Given the description of an element on the screen output the (x, y) to click on. 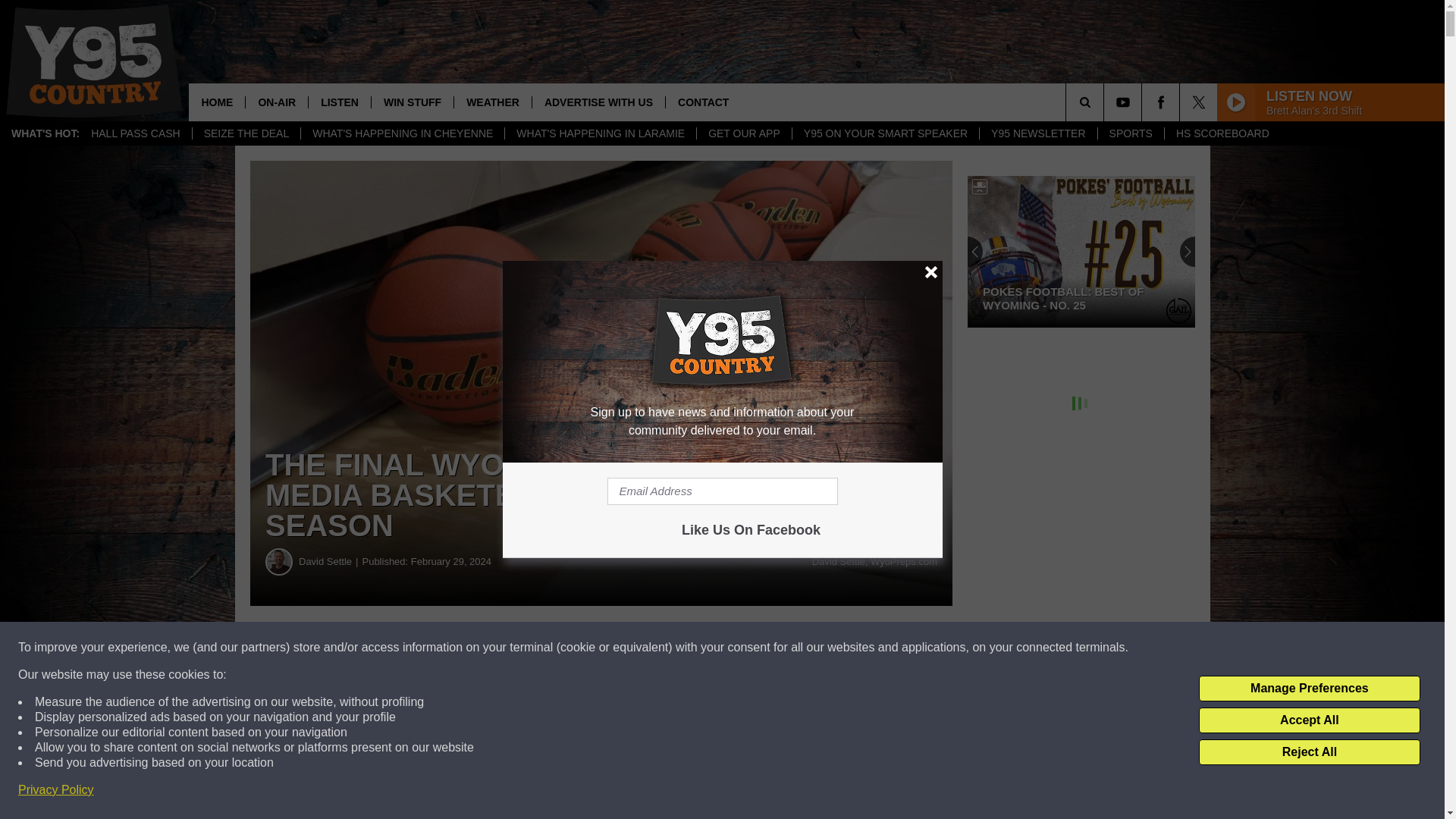
Share on Twitter (741, 647)
HS SCOREBOARD (1222, 133)
Share on Facebook (460, 647)
SEIZE THE DEAL (246, 133)
ADVERTISE WITH US (598, 102)
WIN STUFF (411, 102)
Manage Preferences (1309, 688)
Y95 NEWSLETTER (1037, 133)
WHAT'S HAPPENING IN LARAMIE (599, 133)
Email Address (722, 491)
SPORTS (1130, 133)
Y95 ON YOUR SMART SPEAKER (885, 133)
HOME (216, 102)
CONTACT (703, 102)
SEARCH (1106, 102)
